Given the description of an element on the screen output the (x, y) to click on. 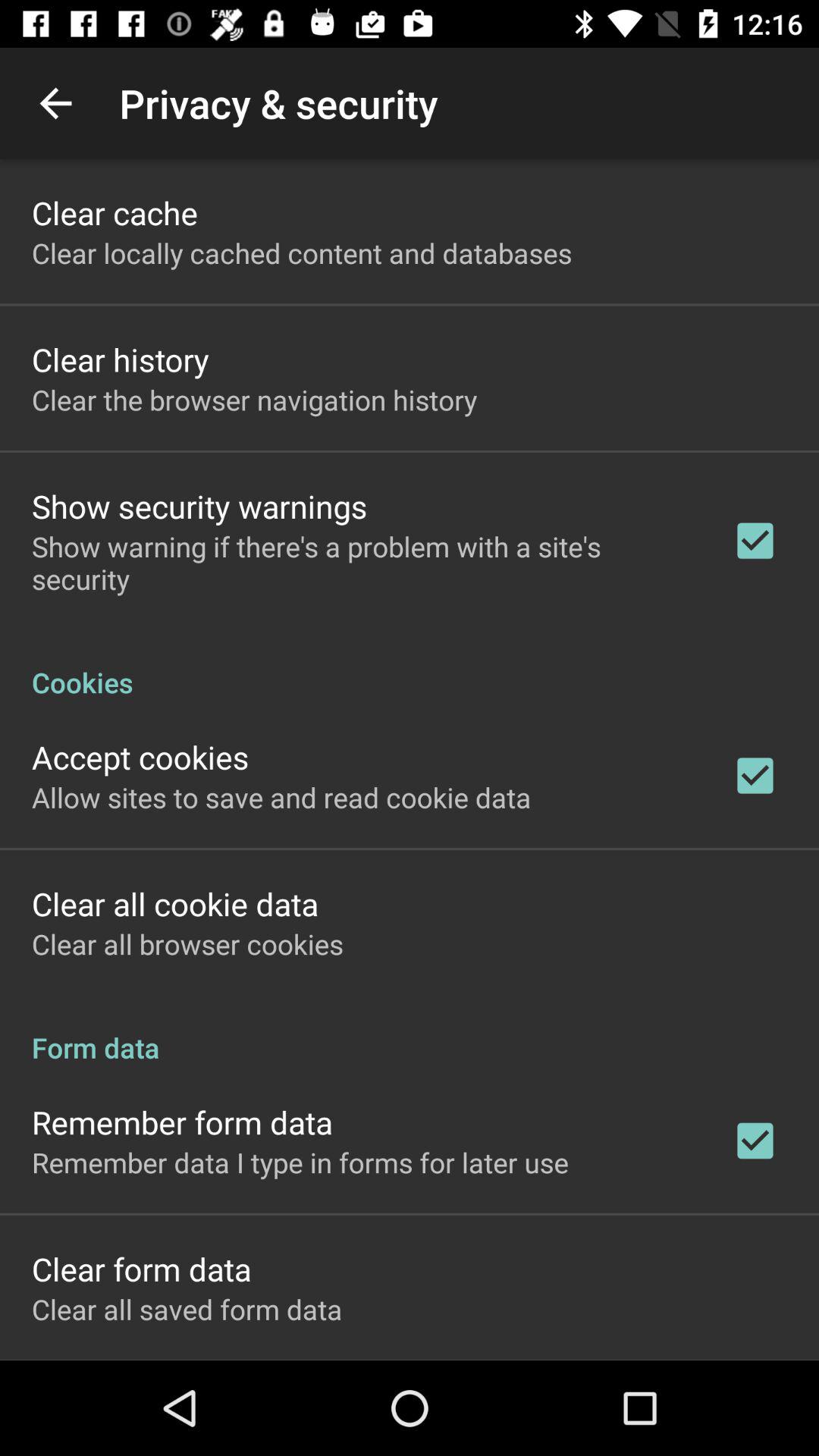
click item to the left of the privacy & security icon (55, 103)
